Given the description of an element on the screen output the (x, y) to click on. 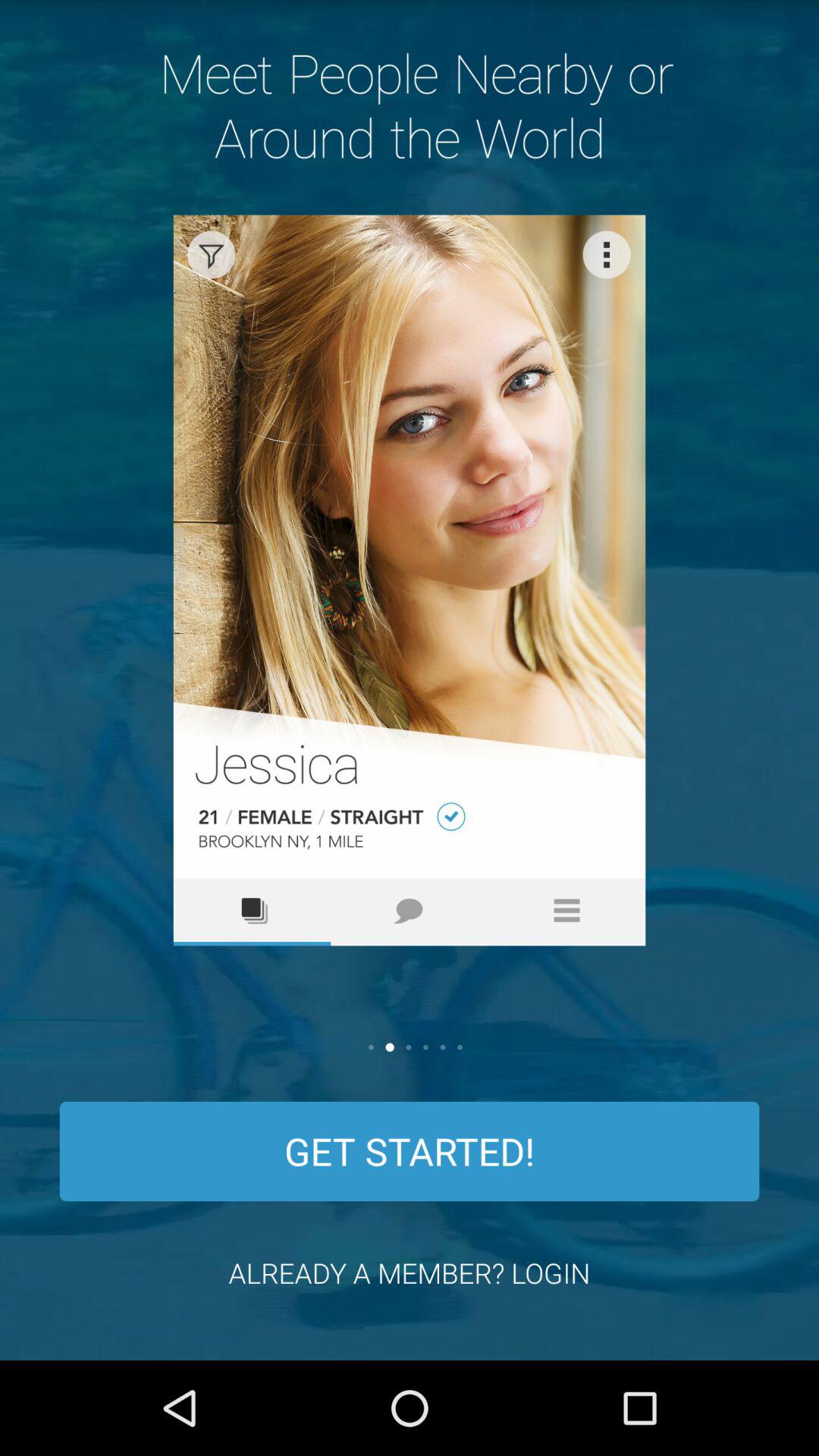
flip until get started! (409, 1151)
